Given the description of an element on the screen output the (x, y) to click on. 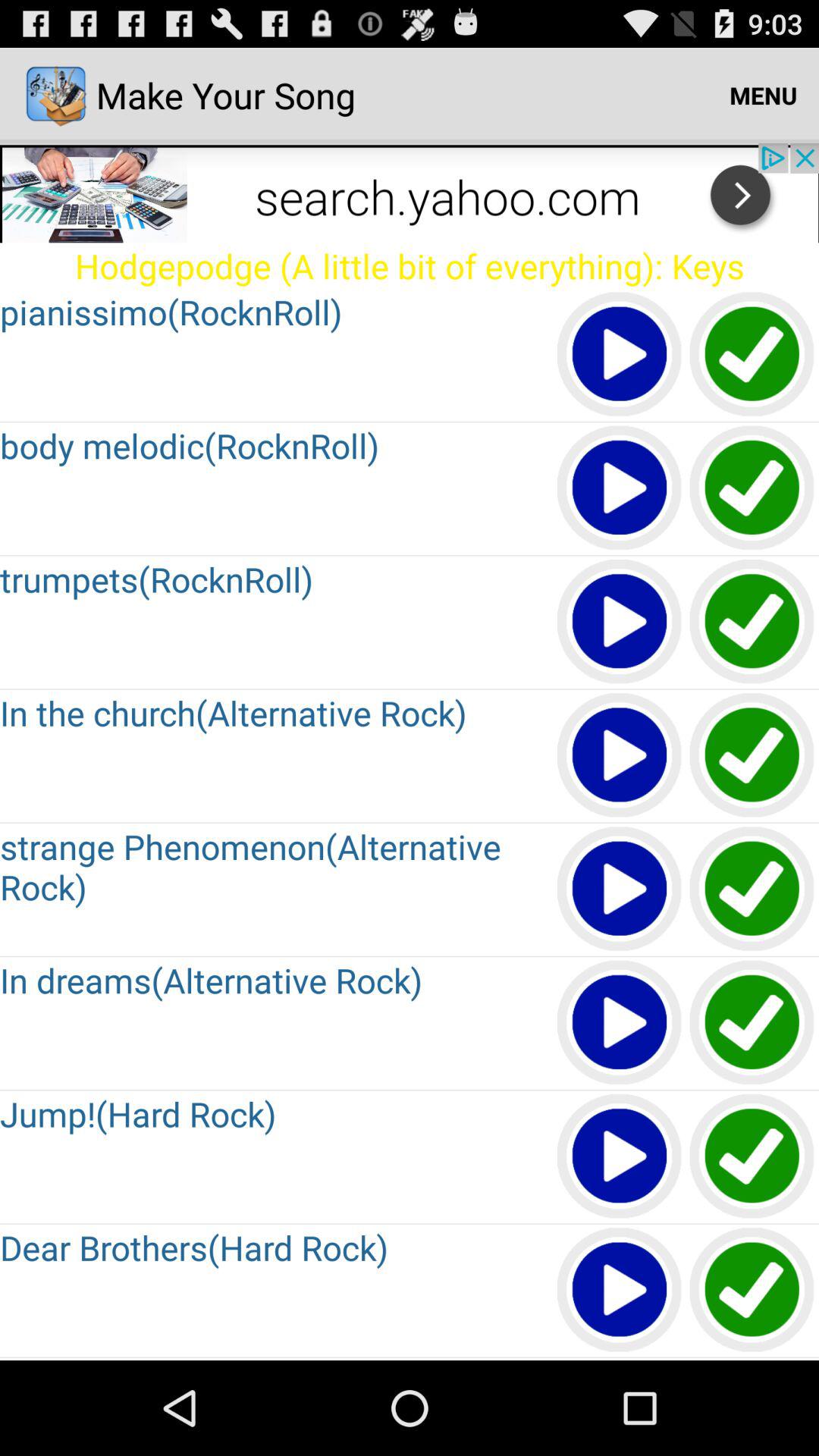
play button (619, 354)
